Given the description of an element on the screen output the (x, y) to click on. 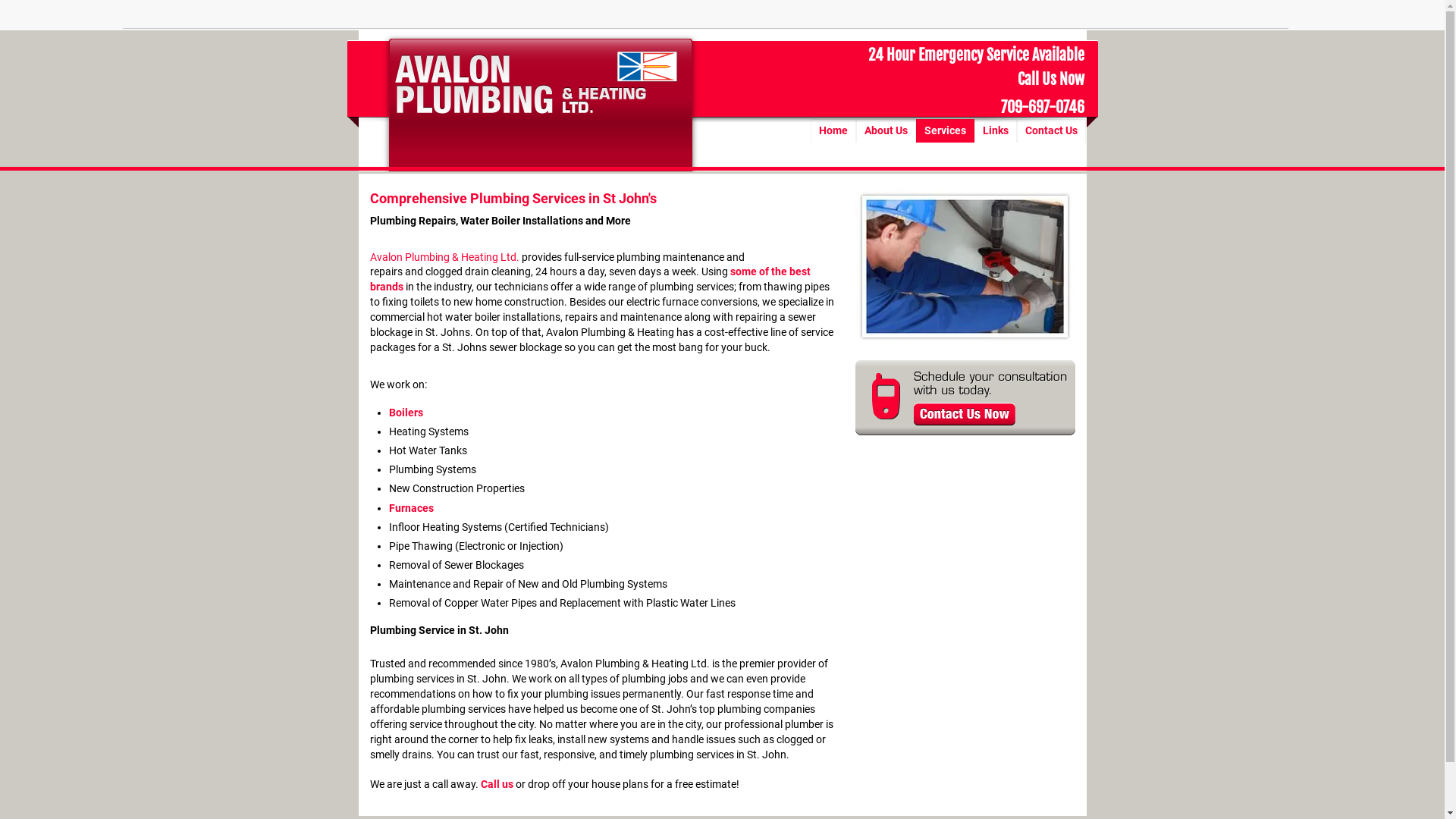
Boilers Element type: text (406, 412)
Services Element type: text (945, 130)
Links Element type: text (994, 130)
some of the best brands Element type: text (590, 279)
About Us Element type: text (885, 130)
Call us Element type: text (496, 785)
Furnaces Element type: text (411, 508)
Embedded Content Element type: hover (1063, 19)
Contact Us Element type: text (1050, 130)
 709-697-0746 Element type: text (1040, 110)
Embedded Content Element type: hover (972, 14)
Avalon Plumbing & Heating Ltd. Element type: text (444, 258)
Home Element type: text (832, 130)
